Given the description of an element on the screen output the (x, y) to click on. 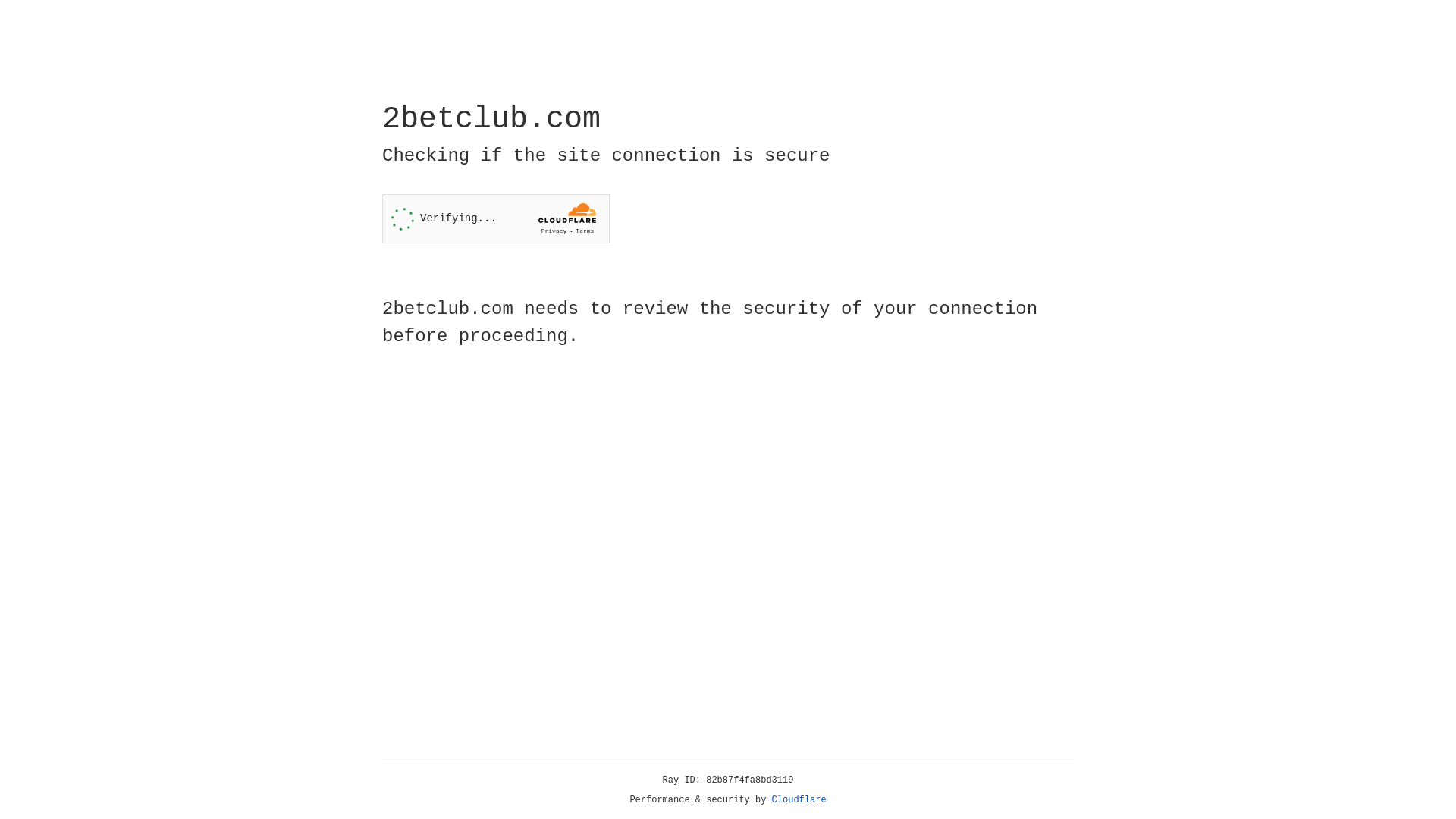
Cloudflare Element type: text (798, 799)
Widget containing a Cloudflare security challenge Element type: hover (495, 218)
